Given the description of an element on the screen output the (x, y) to click on. 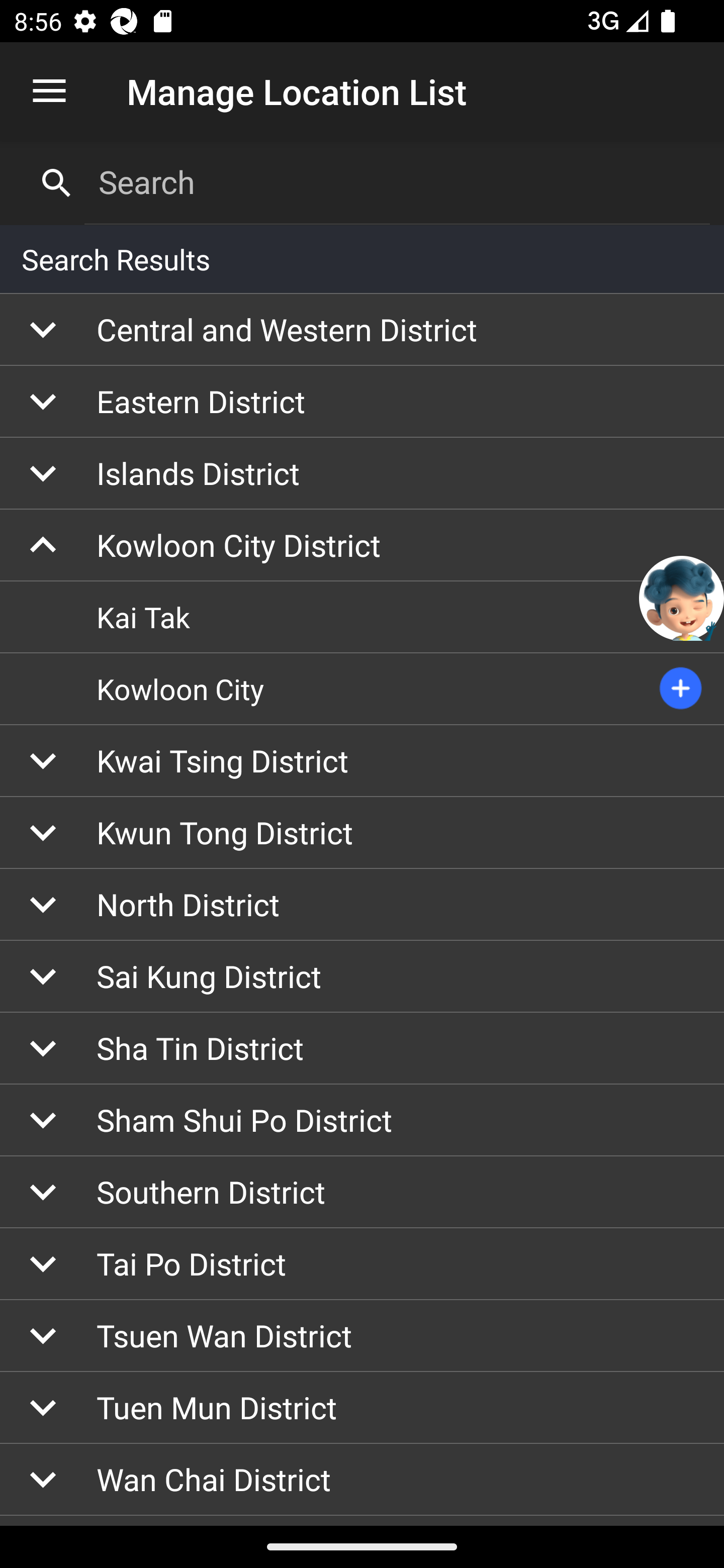
Navigate up (49, 91)
Search (397, 181)
Expand Central and Western District (362, 329)
Expand Eastern District (362, 401)
Expand Islands District (362, 473)
Collapse Kowloon City District (362, 545)
Chatbot (681, 598)
Add (680, 688)
Expand Kwai Tsing District (362, 760)
Expand Kwun Tong District (362, 832)
Expand North District (362, 904)
Expand Sai Kung District (362, 976)
Expand Sha Tin District (362, 1048)
Expand Sham Shui Po District (362, 1121)
Expand Southern District (362, 1192)
Expand Tai Po District (362, 1263)
Expand Tsuen Wan District (362, 1335)
Expand Tuen Mun District (362, 1408)
Expand Wan Chai District (362, 1480)
